Given the description of an element on the screen output the (x, y) to click on. 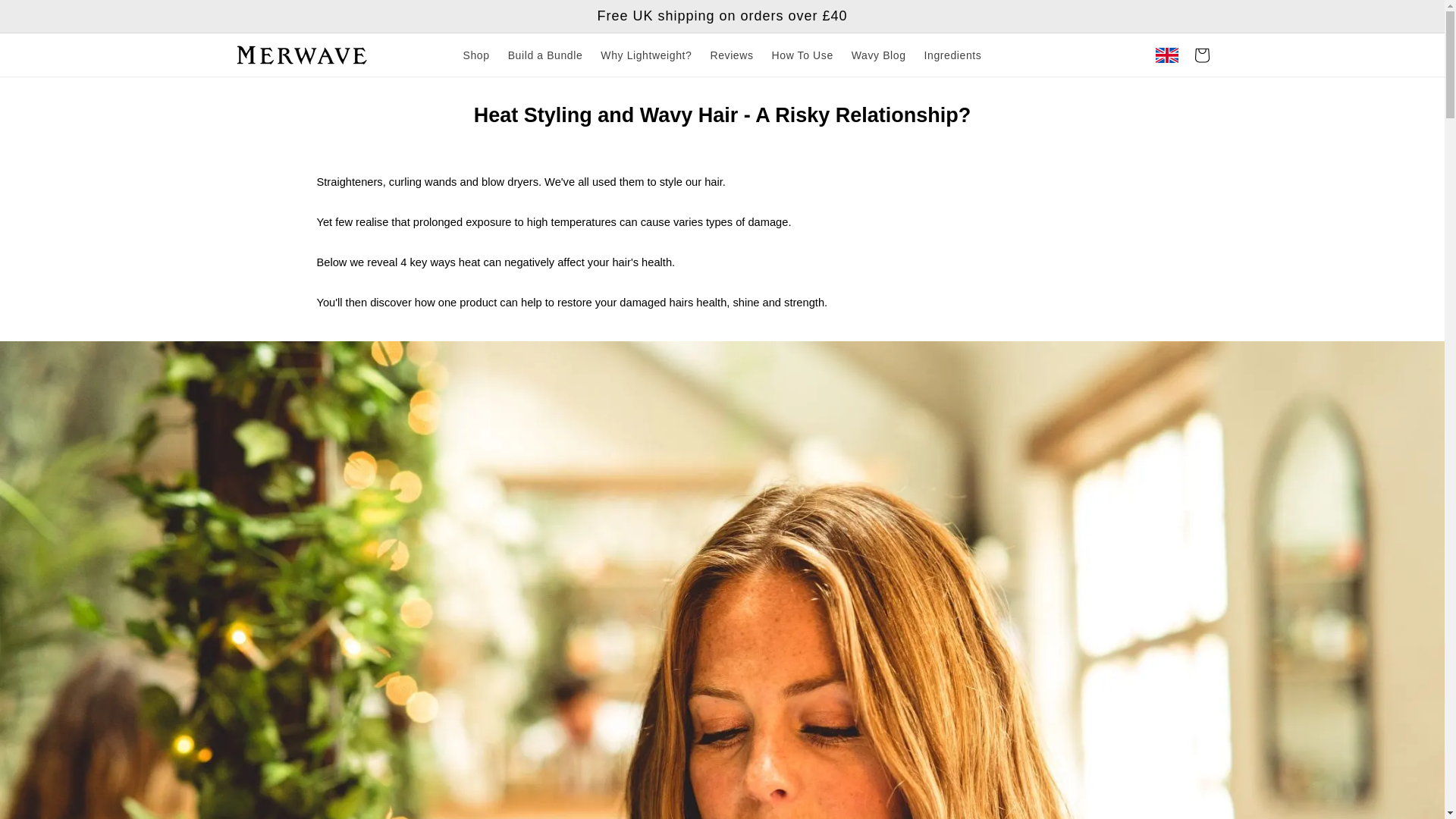
How To Use (802, 55)
Build a Bundle (545, 55)
Cart (1201, 55)
Wavy Blog (879, 55)
Shop (476, 55)
Why Lightweight? (645, 55)
Reviews (730, 55)
Skip to content (46, 18)
Ingredients (953, 55)
